Given the description of an element on the screen output the (x, y) to click on. 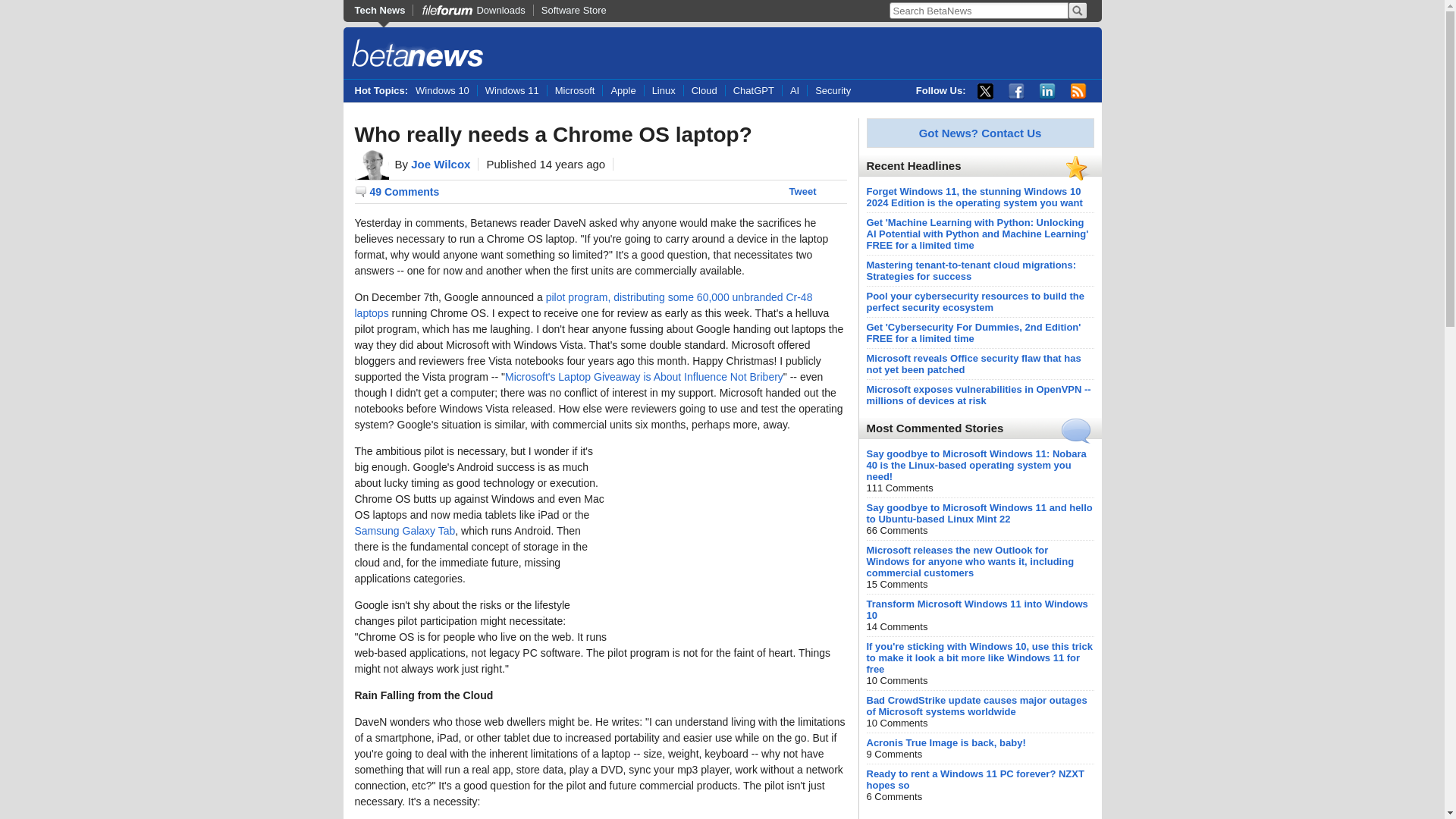
Joe Wilcox (440, 164)
Tech News (384, 9)
Cloud (703, 90)
Facebook (1017, 91)
Apple (622, 90)
Search (1076, 10)
RSS (1078, 91)
Search (1076, 10)
Search (1076, 10)
